Given the description of an element on the screen output the (x, y) to click on. 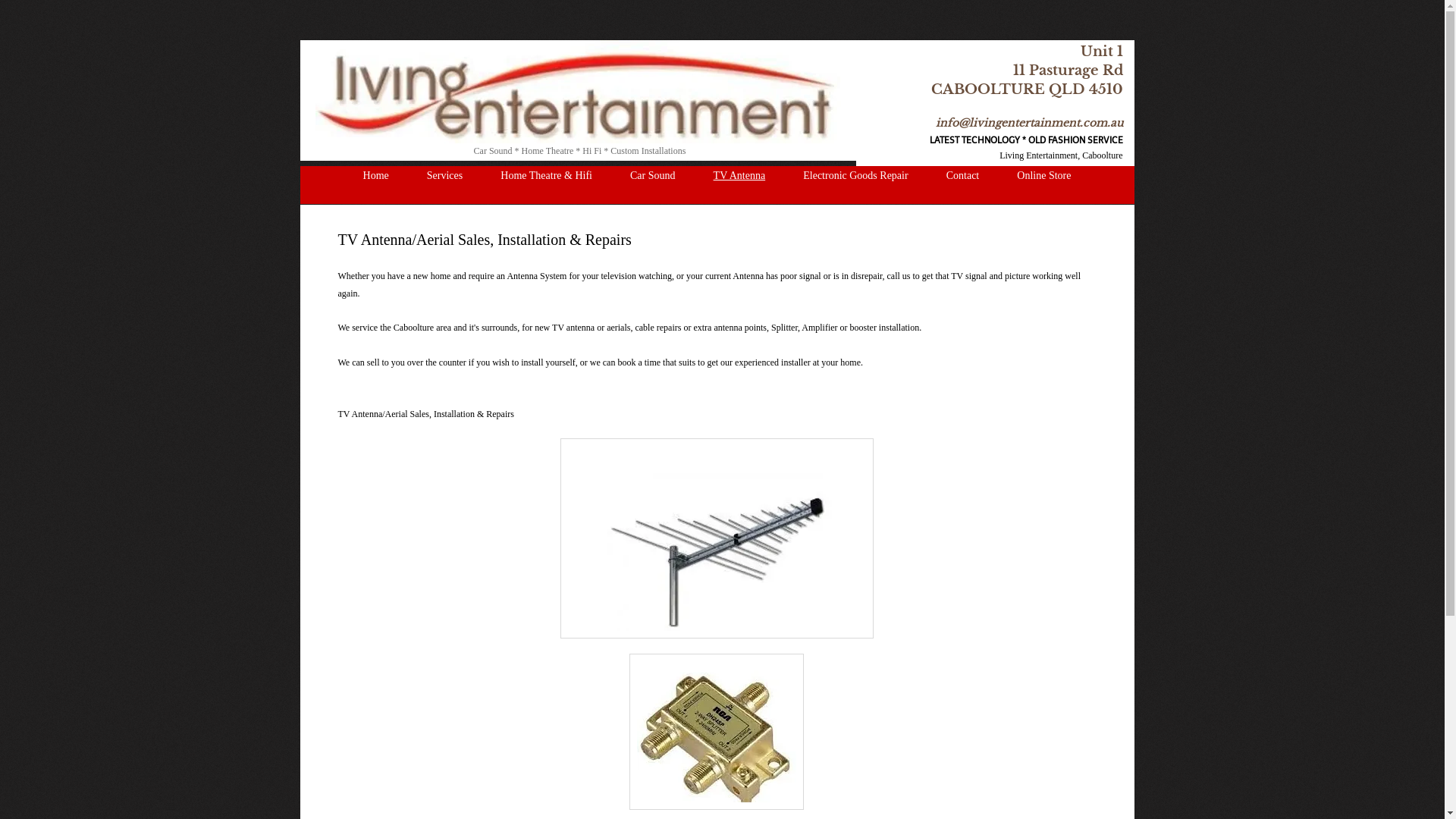
Contact Element type: text (962, 175)
Electronic Goods Repair Element type: text (855, 175)
info@livingentertainment.com.au Element type: text (1029, 122)
TV Antenna Element type: text (739, 175)
Home Theatre & Hifi Element type: text (546, 175)
Services Element type: text (444, 175)
Car Sound Element type: text (652, 175)
Home Element type: text (375, 175)
Online Store Element type: text (1043, 175)
